Given the description of an element on the screen output the (x, y) to click on. 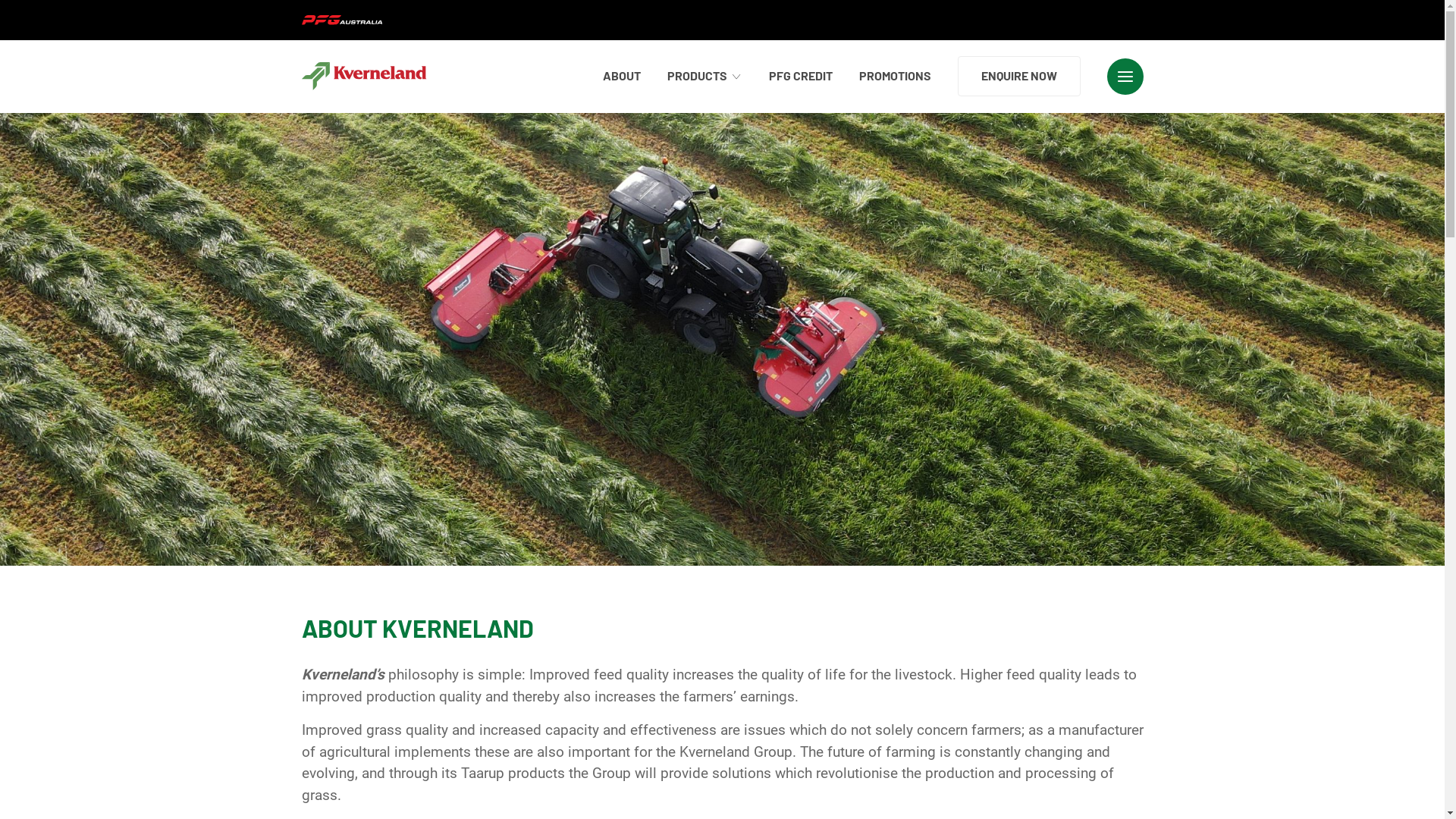
ENQUIRE NOW Element type: text (1018, 76)
ABOUT Element type: text (621, 76)
PROMOTIONS Element type: text (894, 76)
PRODUCTS Element type: text (704, 76)
PFG CREDIT Element type: text (800, 76)
